Given the description of an element on the screen output the (x, y) to click on. 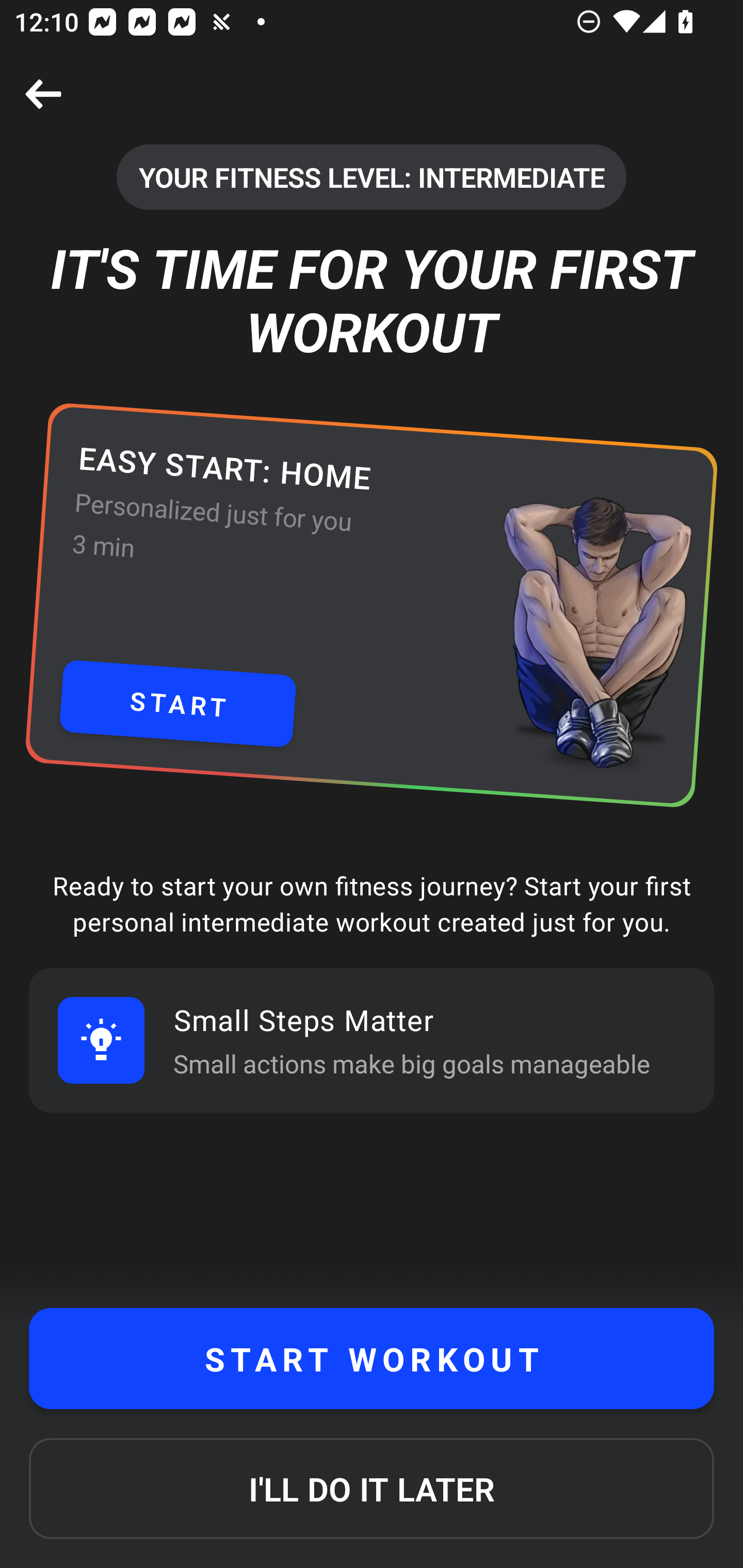
Close screen (43, 93)
START (177, 703)
START WORKOUT (371, 1358)
I'LL DO IT LATER (371, 1488)
